Given the description of an element on the screen output the (x, y) to click on. 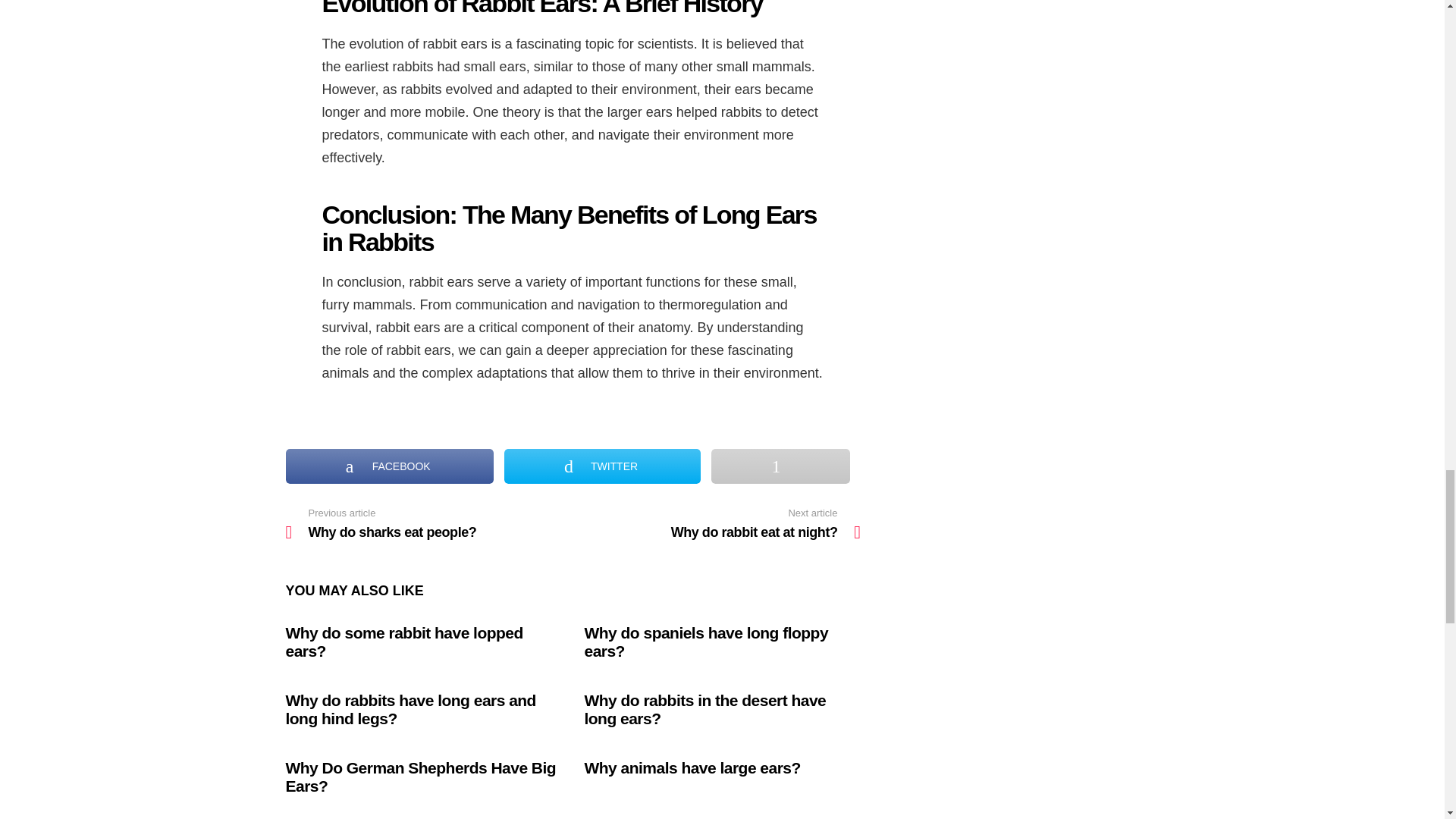
FACEBOOK (389, 466)
Share on More Button (779, 466)
Share on Facebook (389, 466)
TWITTER (601, 466)
Share on Twitter (601, 466)
